Given the description of an element on the screen output the (x, y) to click on. 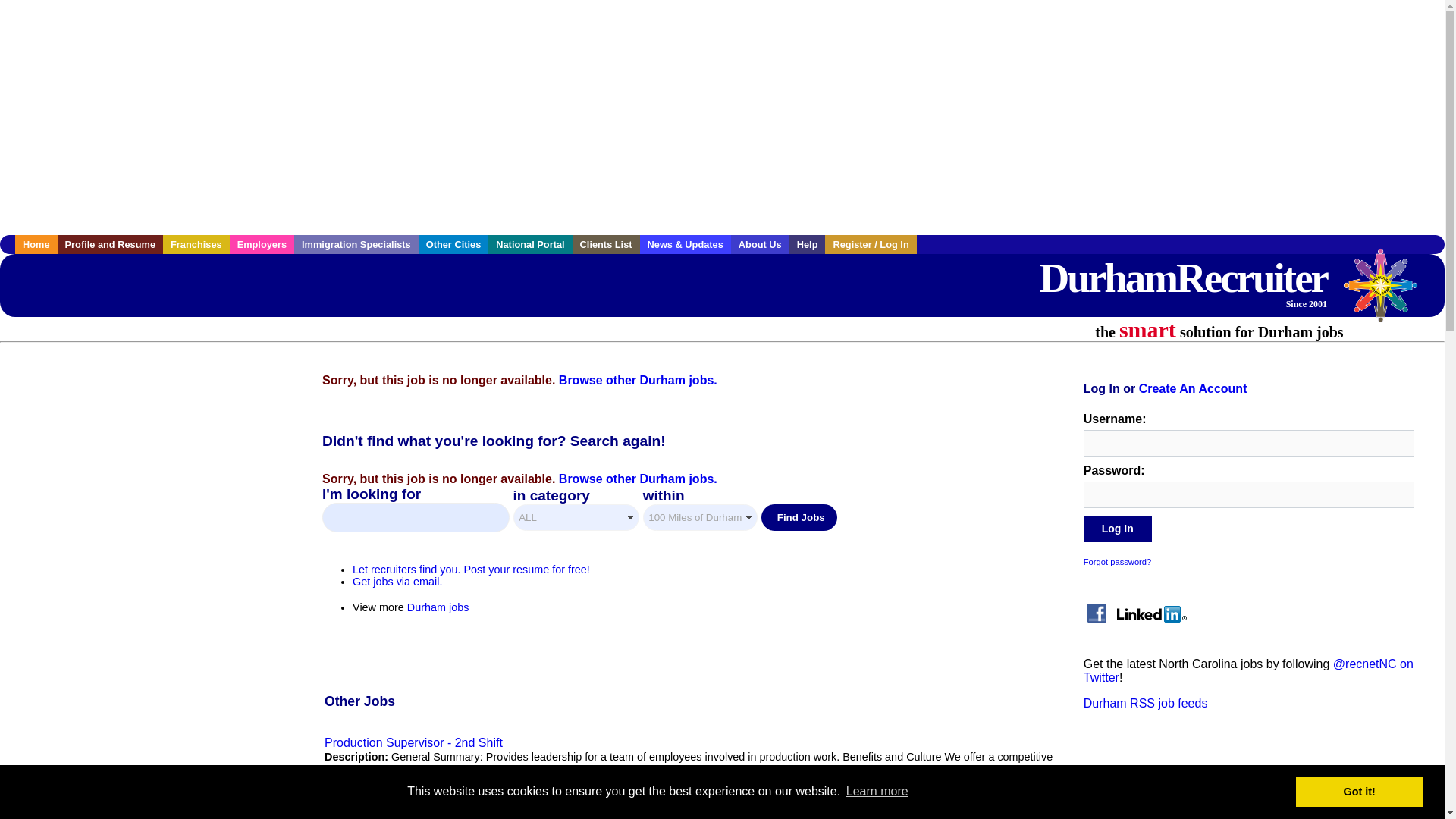
Other Recruiter Networks Cities (454, 244)
Clients List (606, 244)
Browse other Durham jobs. (638, 478)
Recruiter Media, Inc. (1387, 292)
Search jobs in Durham (1182, 280)
Durham Employers (262, 244)
Production Supervisor - 2nd Shift (413, 742)
National Portal (529, 244)
Home (36, 244)
Learn more (877, 791)
Production Supervisor - 2nd Shift (413, 742)
Log In (1117, 528)
Get  jobs via email (397, 581)
Durham  help (807, 244)
Got it! (1358, 791)
